Given the description of an element on the screen output the (x, y) to click on. 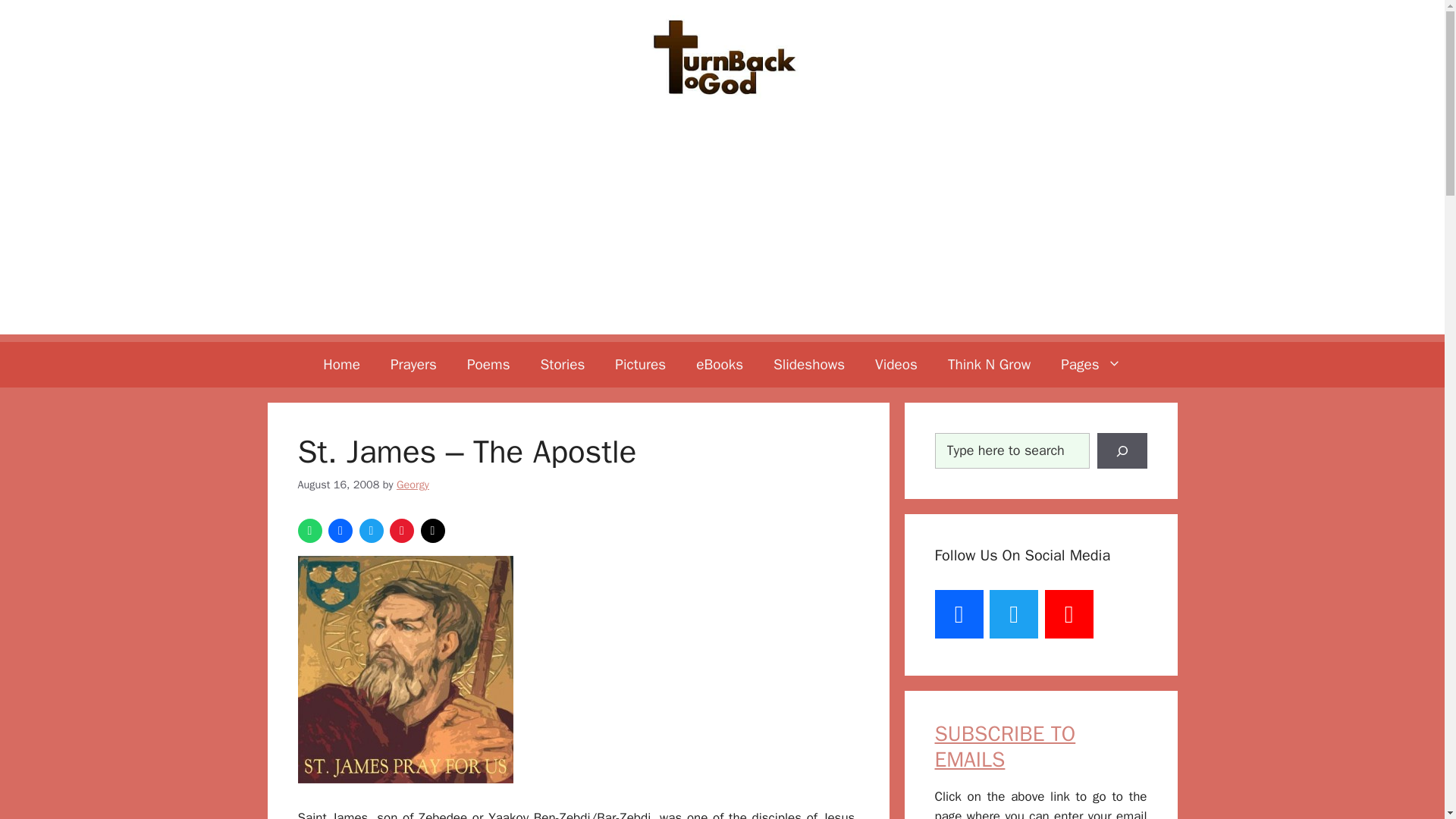
Pictures (640, 364)
View all posts by Georgy (412, 484)
Prayers (413, 364)
st-james (404, 669)
Save this as PDF (401, 530)
Stories (562, 364)
eBooks (719, 364)
Turnback To God (721, 57)
Share via Email (432, 530)
Share via Twitter (371, 530)
Share via Facebook (340, 530)
Pages (1091, 364)
Georgy (412, 484)
Share via WhatsApp (309, 530)
